Given the description of an element on the screen output the (x, y) to click on. 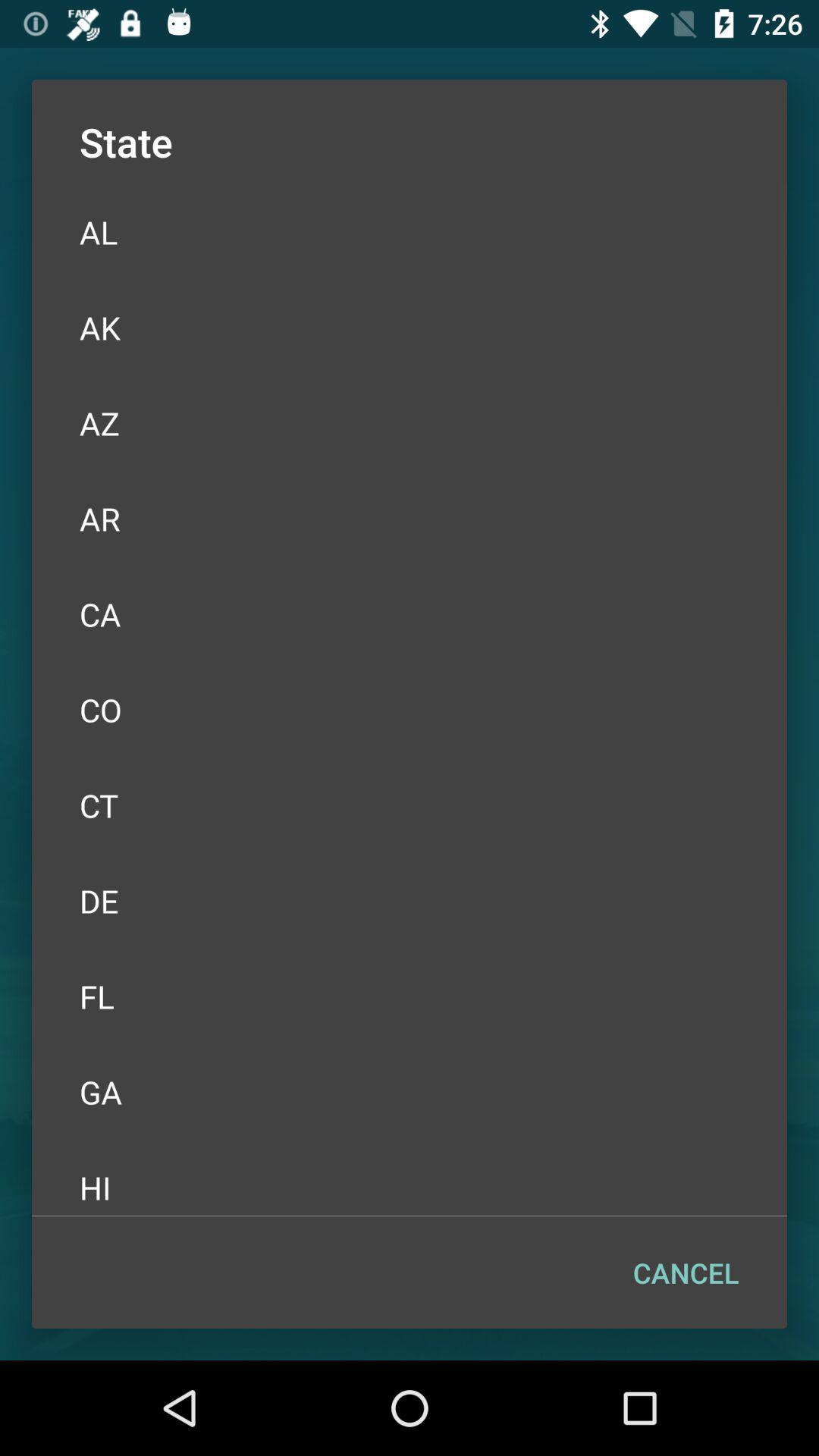
scroll until az icon (409, 422)
